Given the description of an element on the screen output the (x, y) to click on. 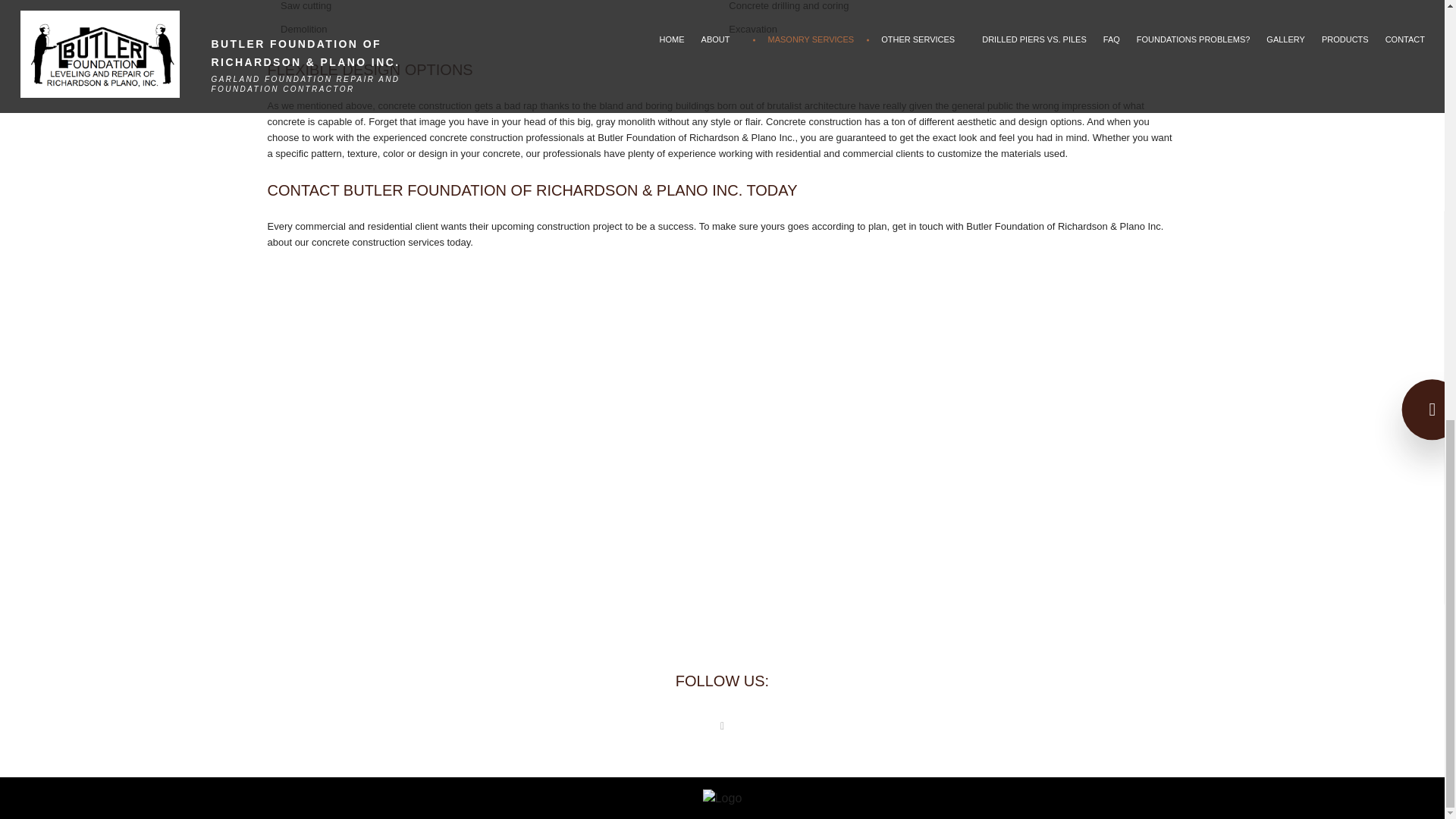
Get In Touch With Us (722, 497)
GET IN TOUCH WITH US (722, 497)
